Given the description of an element on the screen output the (x, y) to click on. 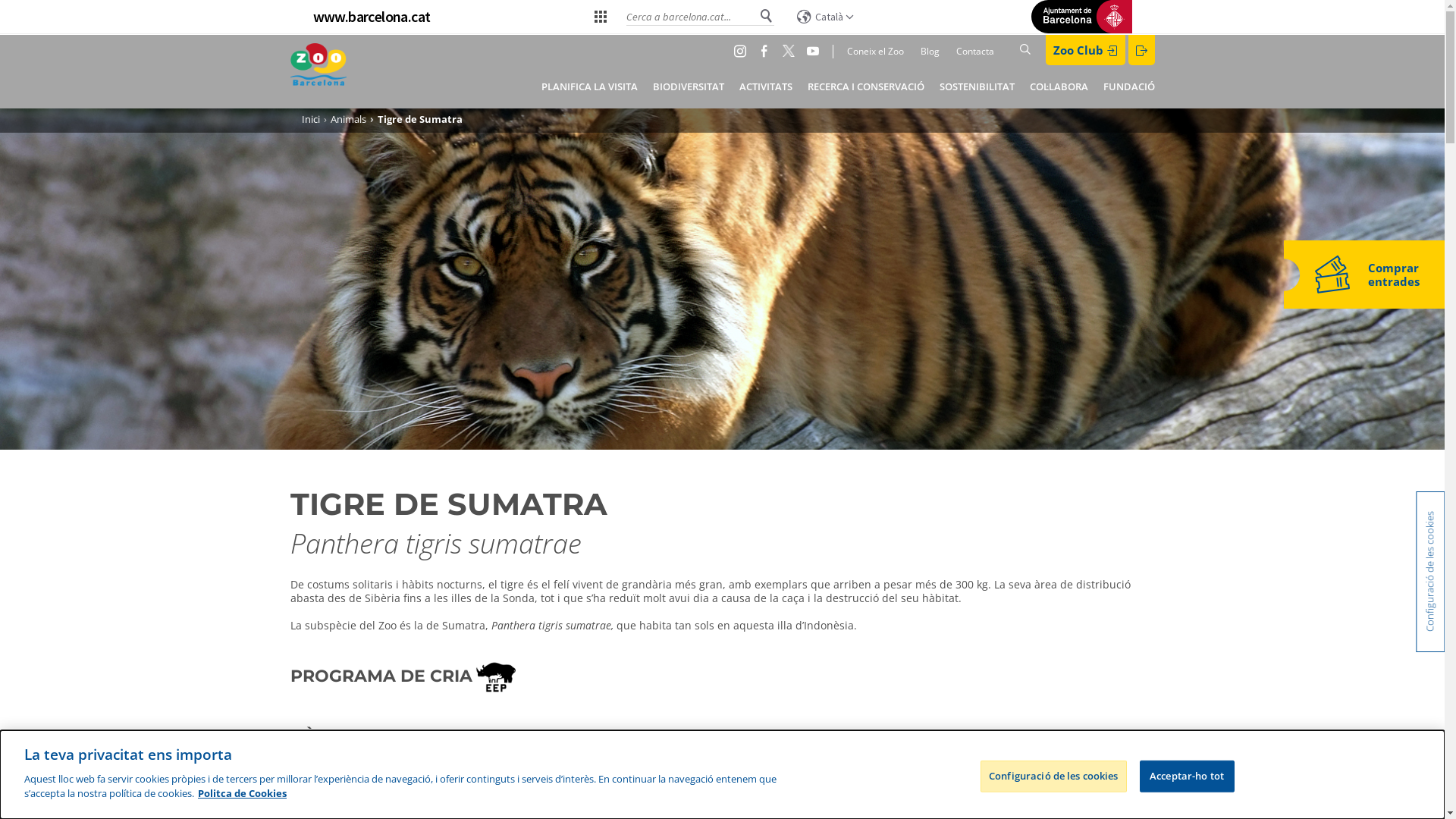
www.barcelona.cat Element type: text (370, 15)
SOSTENIBILITAT Element type: text (975, 86)
Comprar entrades Element type: text (1363, 273)
Animals Element type: text (348, 118)
Youtube Element type: text (815, 50)
Inici Element type: text (310, 118)
Contacta Element type: text (972, 51)
BIODIVERSITAT Element type: text (687, 86)
cookies Element type: text (728, 802)
Zoo Club Element type: text (1084, 49)
PLANIFICA LA VISITA Element type: text (589, 86)
Inici Element type: hover (317, 71)
CERCA Element type: text (1150, 49)
Politca de Cookies Element type: text (241, 793)
Facebook Element type: text (767, 50)
Instagram Element type: text (743, 50)
Blog Element type: text (922, 51)
Acceptar-ho tot Element type: text (1186, 775)
Coneix el Zoo Element type: text (867, 51)
D'acord Element type: text (976, 796)
TIGRE DE SUMATRA Element type: text (447, 503)
Twitter Element type: text (791, 50)
ACTIVITATS Element type: text (764, 86)
